Given the description of an element on the screen output the (x, y) to click on. 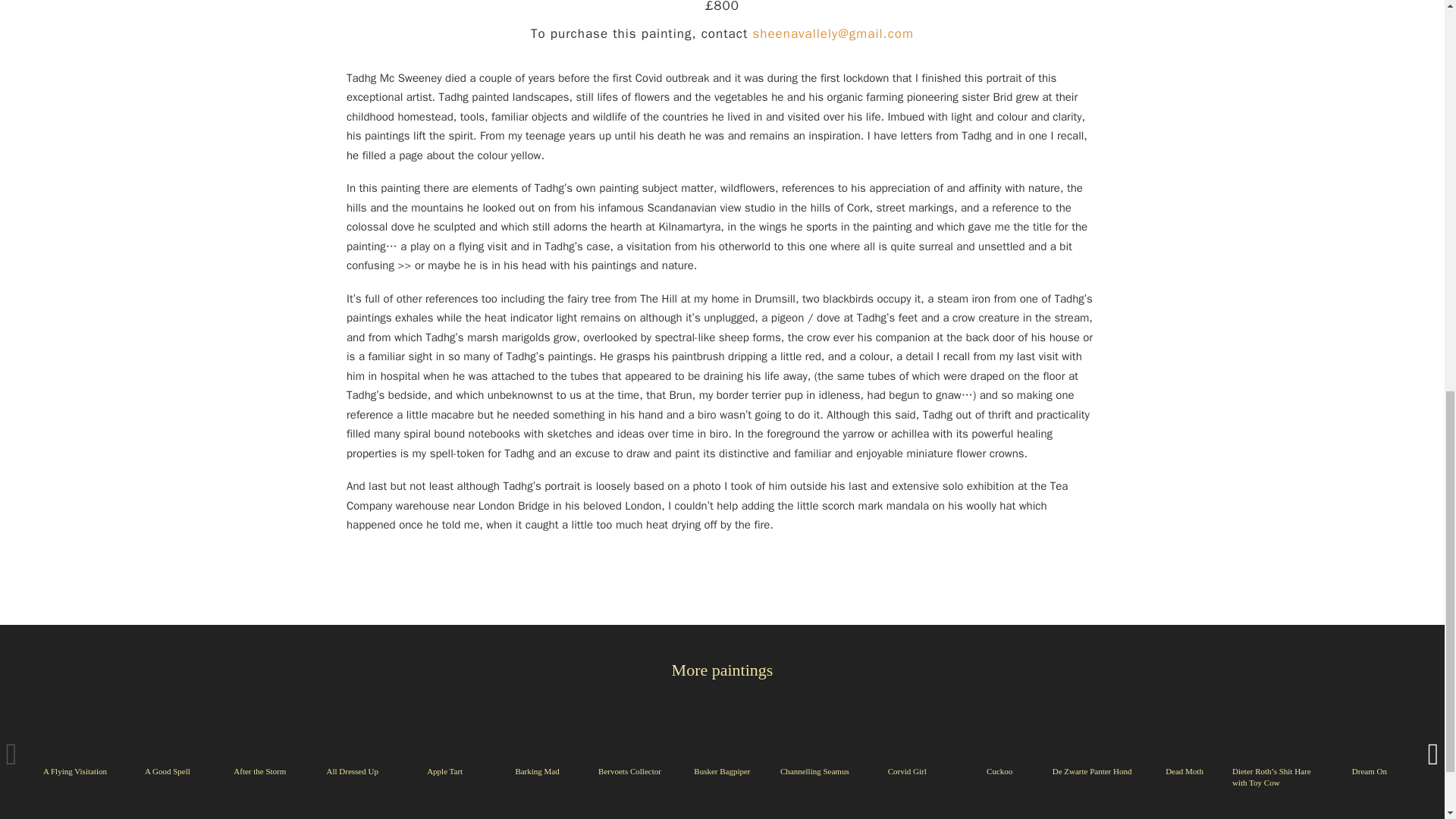
Barking Mad (537, 770)
Bervoets Collector (629, 770)
A Good Spell (167, 770)
Busker Bagpiper (721, 770)
Channelling Seamus (814, 770)
After the Storm (258, 770)
A Flying Visitation (74, 770)
Apple Tart (444, 770)
All Dressed Up (351, 770)
